Given the description of an element on the screen output the (x, y) to click on. 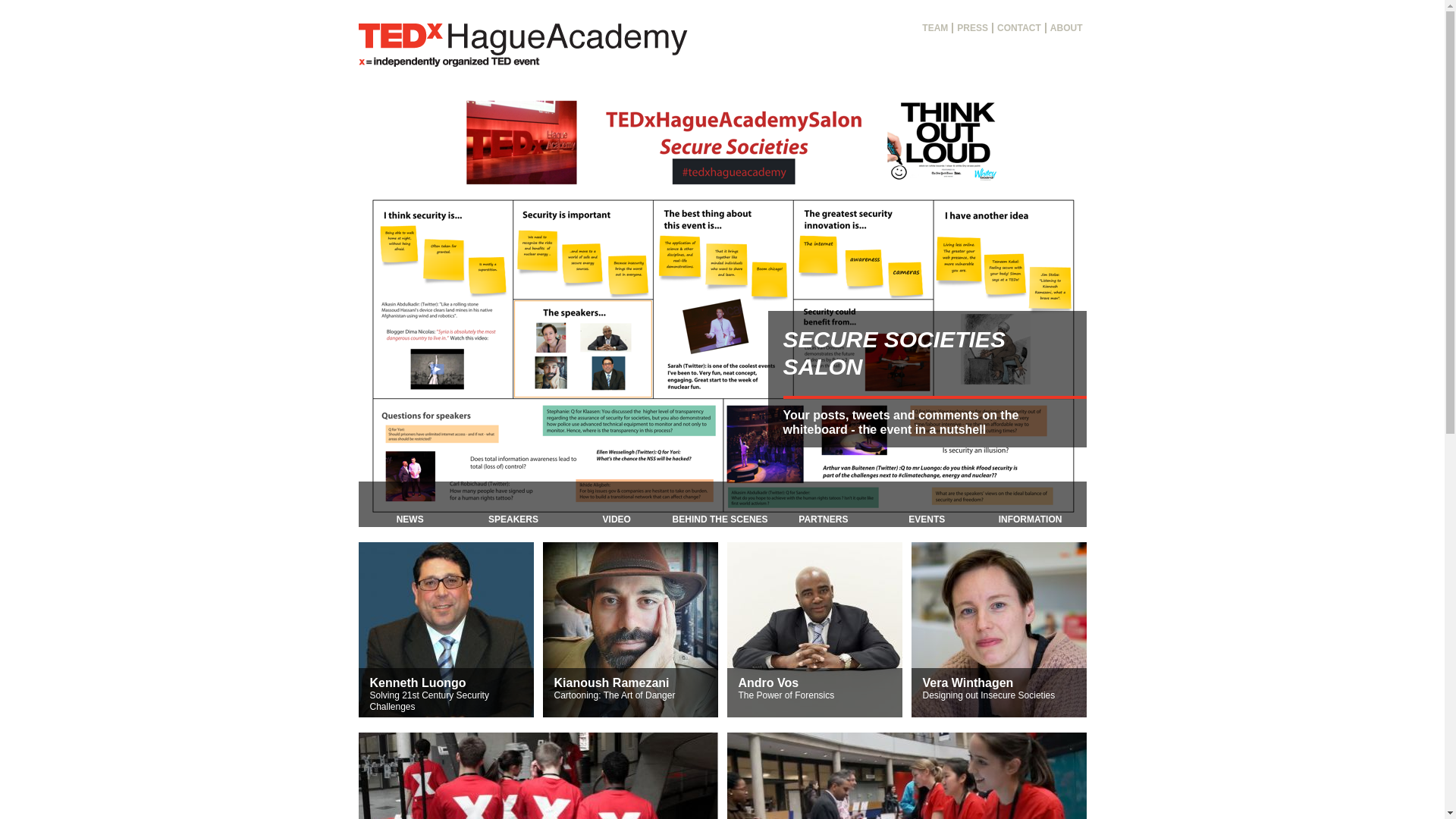
Vera Winthagen (967, 682)
SPEAKERS (512, 504)
PRESS (972, 27)
Twitter (1005, 48)
TEAM (935, 27)
BEHIND THE SCENES (719, 504)
Facebook (1074, 48)
Kianoush Ramezani (610, 682)
VIDEO (616, 504)
